Given the description of an element on the screen output the (x, y) to click on. 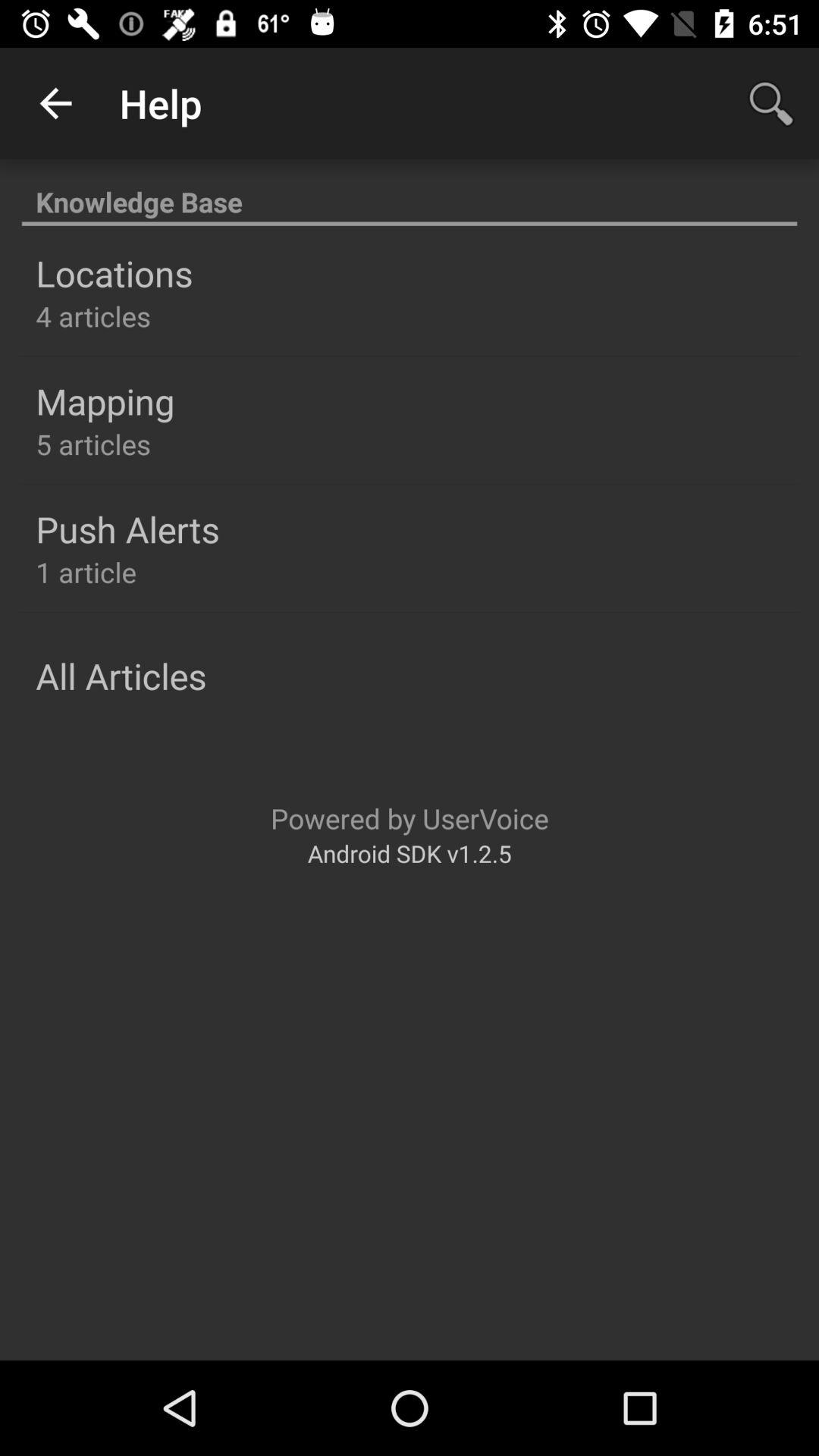
open all articles (120, 675)
